Given the description of an element on the screen output the (x, y) to click on. 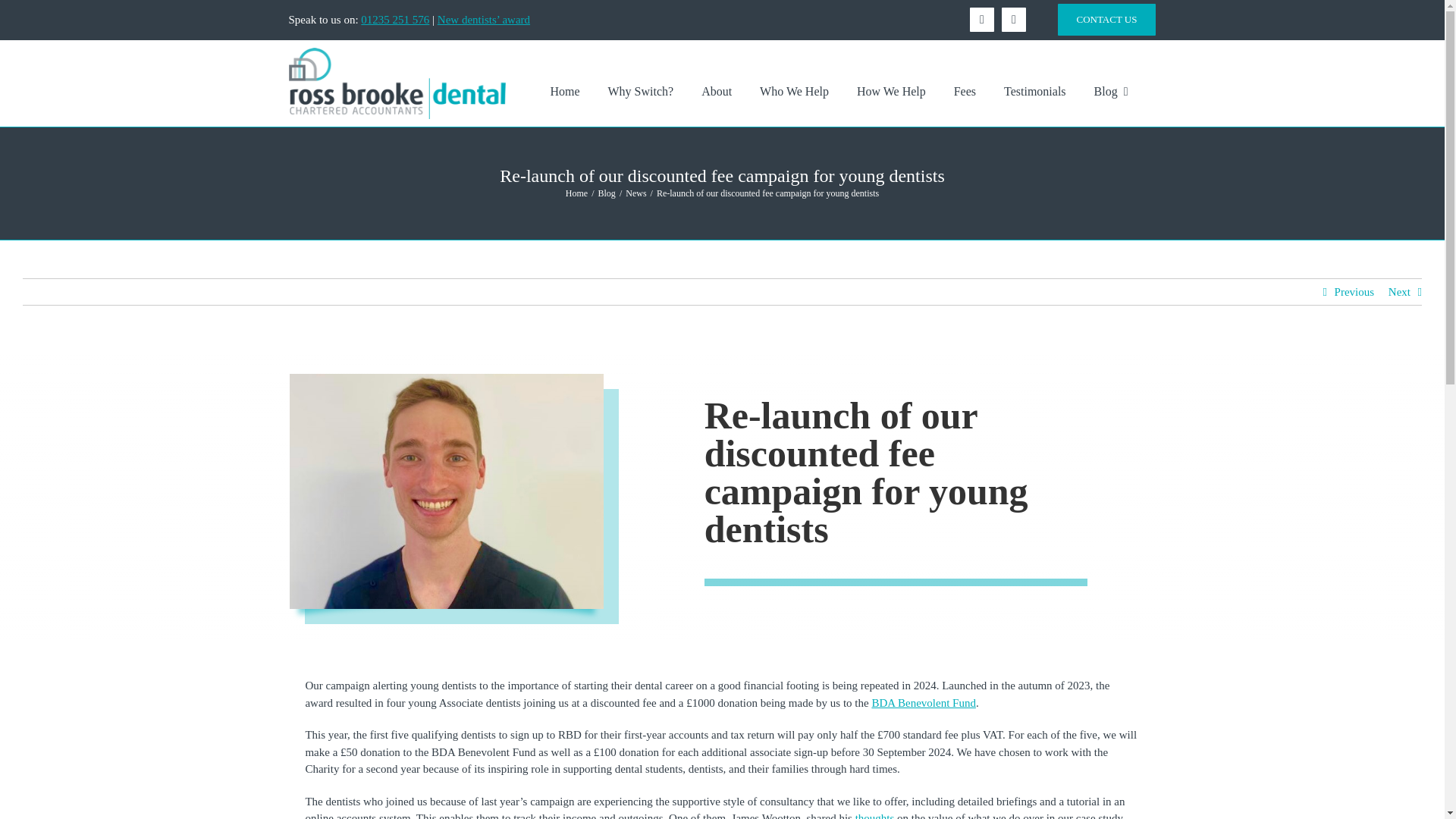
How We Help (891, 90)
LinkedIn (1013, 19)
X (981, 19)
Testimonials (1034, 90)
01235 251 576 (395, 19)
James Wootton profile for blog (446, 491)
Who We Help (794, 90)
Why Switch? (641, 90)
Click here to Contact Us (1106, 20)
CONTACT US (1106, 20)
